Given the description of an element on the screen output the (x, y) to click on. 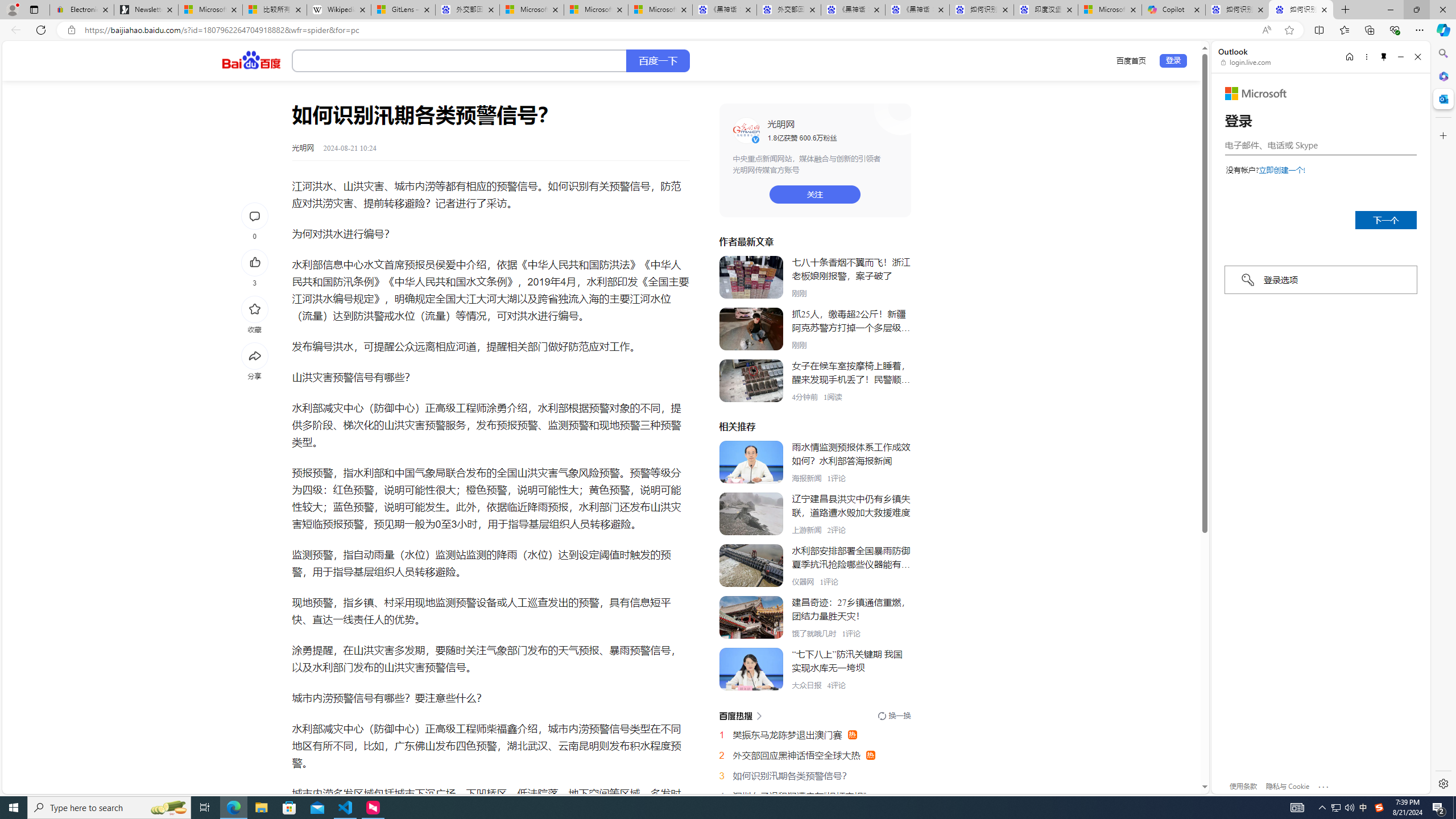
Class: _3aYo6 (751, 380)
Class: XDq7y (751, 668)
